Given the description of an element on the screen output the (x, y) to click on. 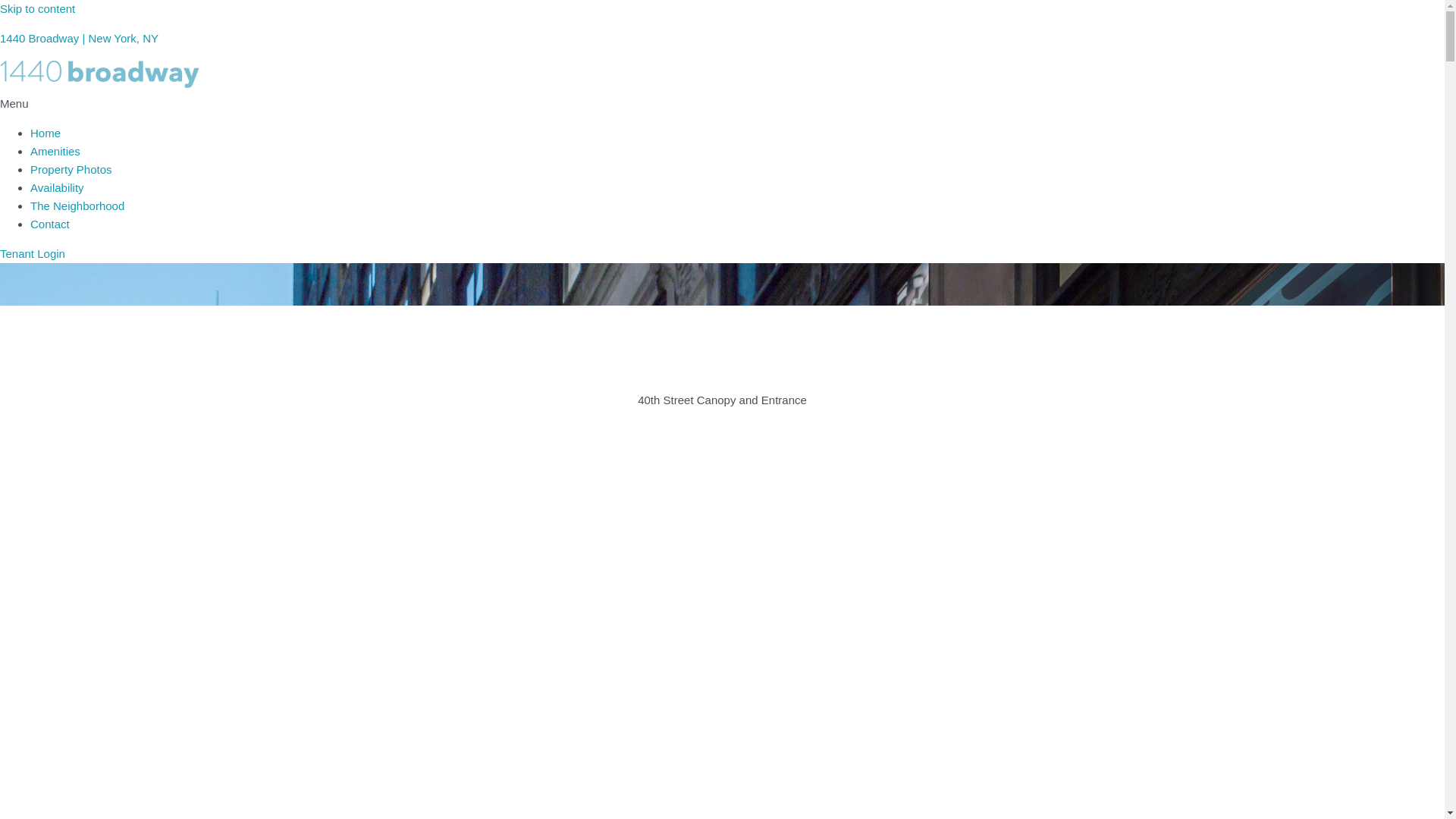
Amenities Element type: text (55, 150)
Availability Element type: text (57, 187)
Skip to content Element type: text (37, 8)
Property Photos Element type: text (71, 169)
1440 Broadway | New York, NY Element type: text (79, 37)
The Neighborhood Element type: text (77, 205)
Tenant Login Element type: text (32, 253)
Home Element type: text (45, 132)
Contact Element type: text (49, 223)
1440broadwaylogo Element type: hover (99, 74)
